Given the description of an element on the screen output the (x, y) to click on. 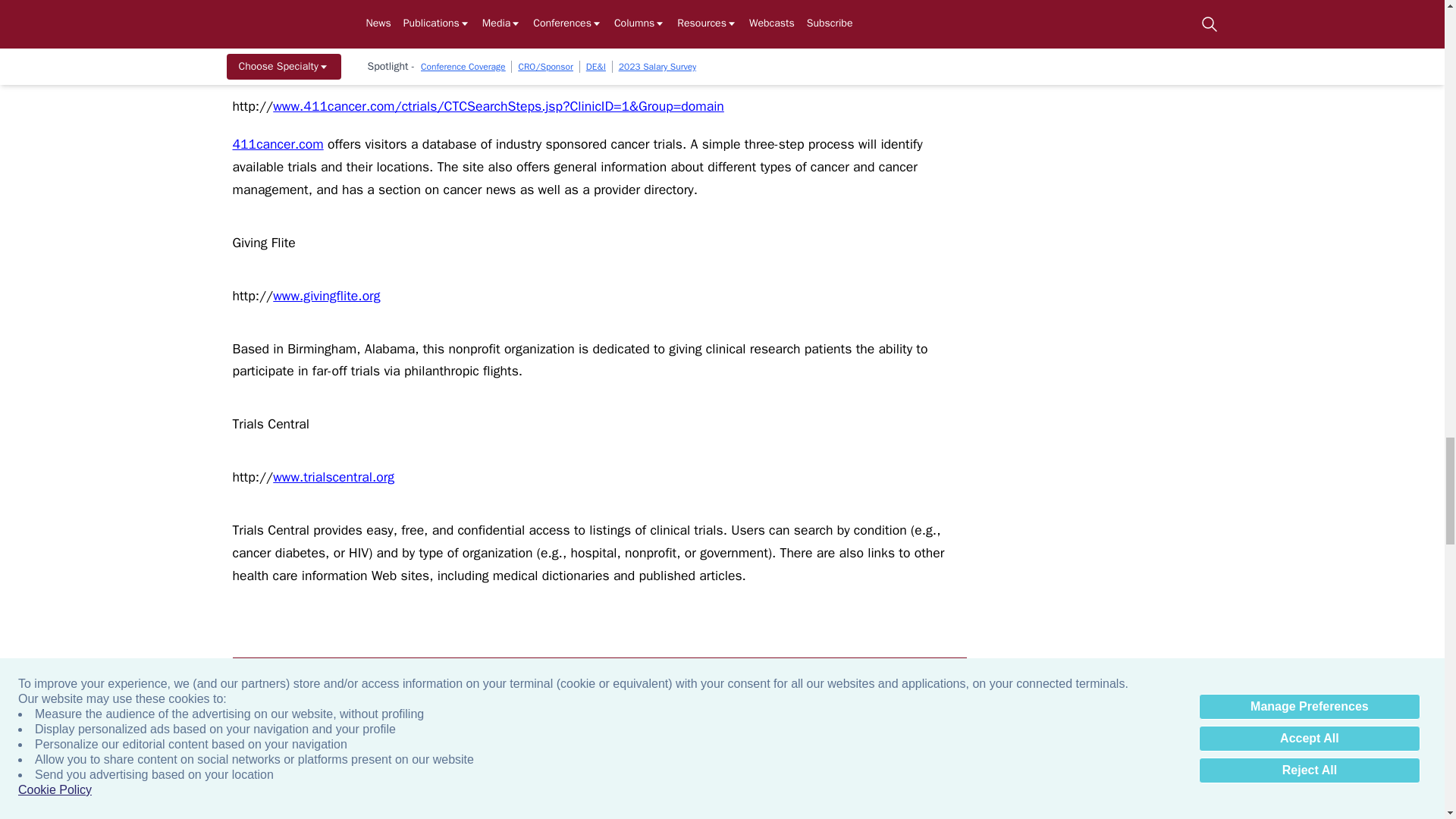
i1-424968-1408670708259.jpg (732, 778)
i4-424967-1408670710193.jpg (1108, 778)
i4-424970-1408670705828.jpg (544, 778)
